Given the description of an element on the screen output the (x, y) to click on. 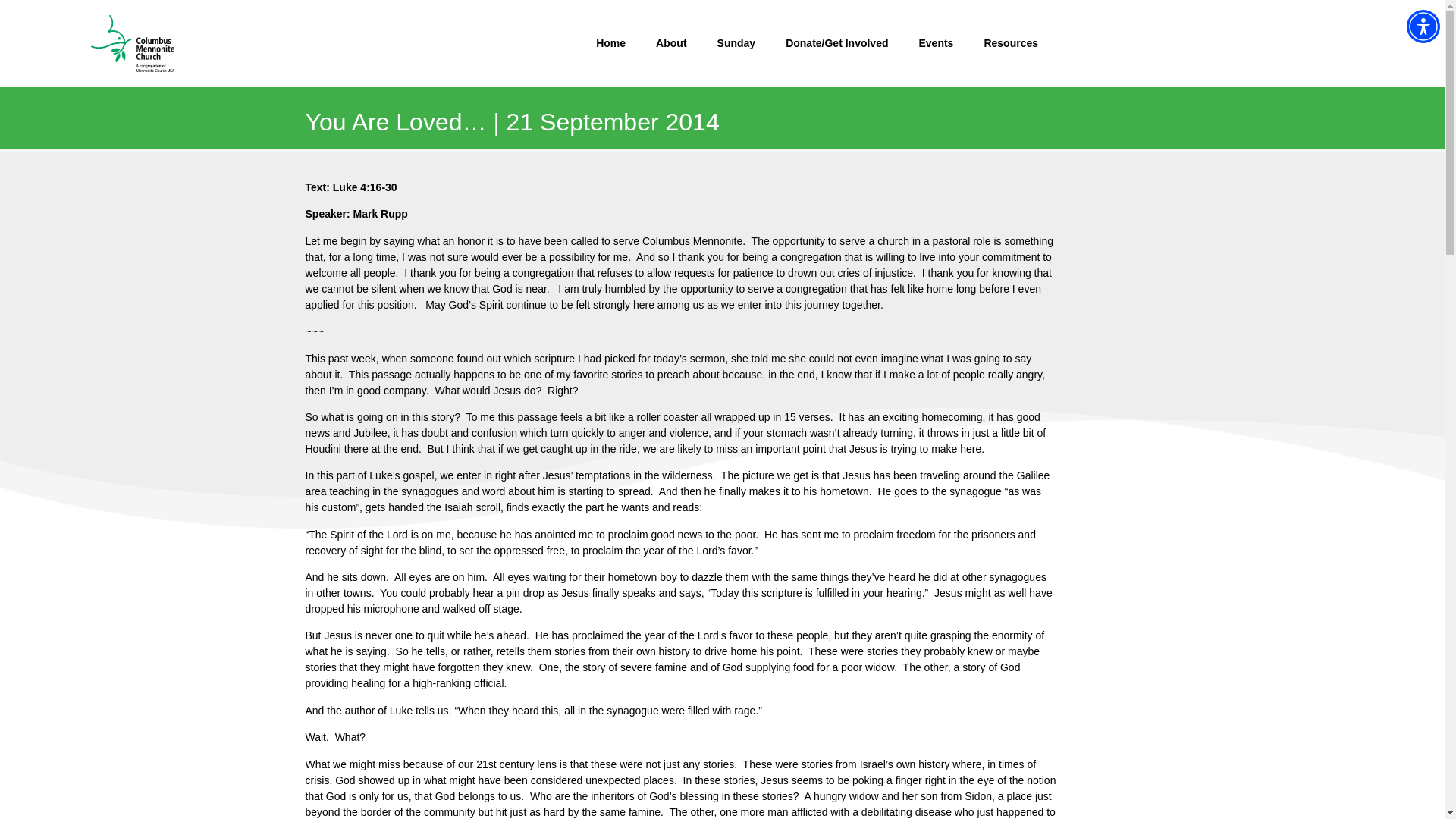
Accessibility Menu (1422, 26)
Home (610, 42)
